Given the description of an element on the screen output the (x, y) to click on. 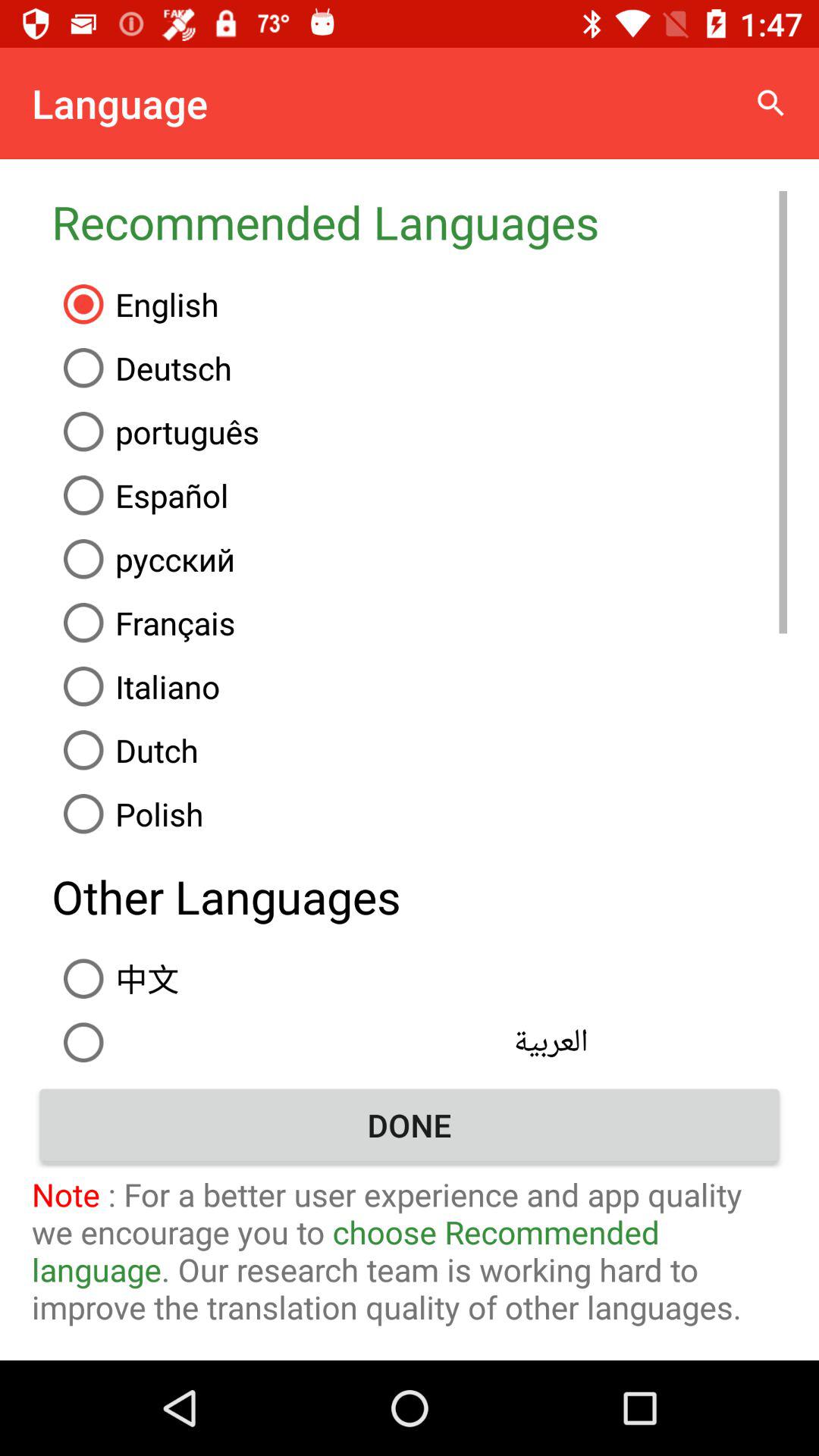
flip to the dutch (419, 750)
